Given the description of an element on the screen output the (x, y) to click on. 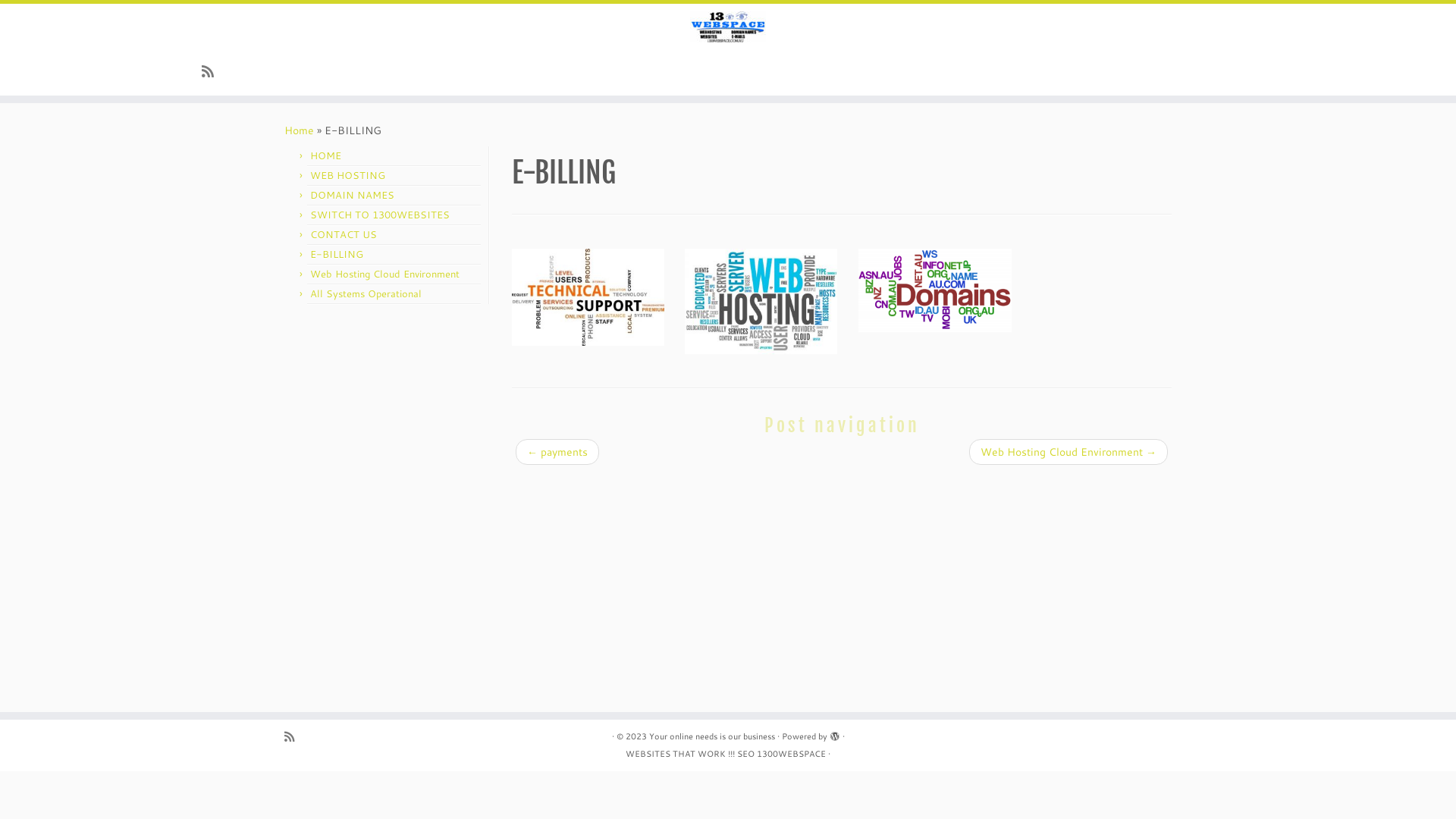
SWITCH TO 1300WEBSITES Element type: text (379, 214)
E-BILLING Element type: text (336, 253)
HOME Element type: text (325, 155)
Your online needs is our business Element type: text (712, 736)
DOMAIN NAMES Element type: text (352, 194)
Subscribe to my rss feed Element type: hover (212, 71)
All Systems Operational Element type: text (365, 293)
Home Element type: text (298, 130)
Web Hosting Cloud Environment Element type: text (384, 273)
WEB HOSTING Element type: text (347, 175)
Subscribe to my rss feed Element type: hover (294, 736)
CONTACT US Element type: text (343, 234)
Powered by WordPress Element type: hover (834, 733)
